Given the description of an element on the screen output the (x, y) to click on. 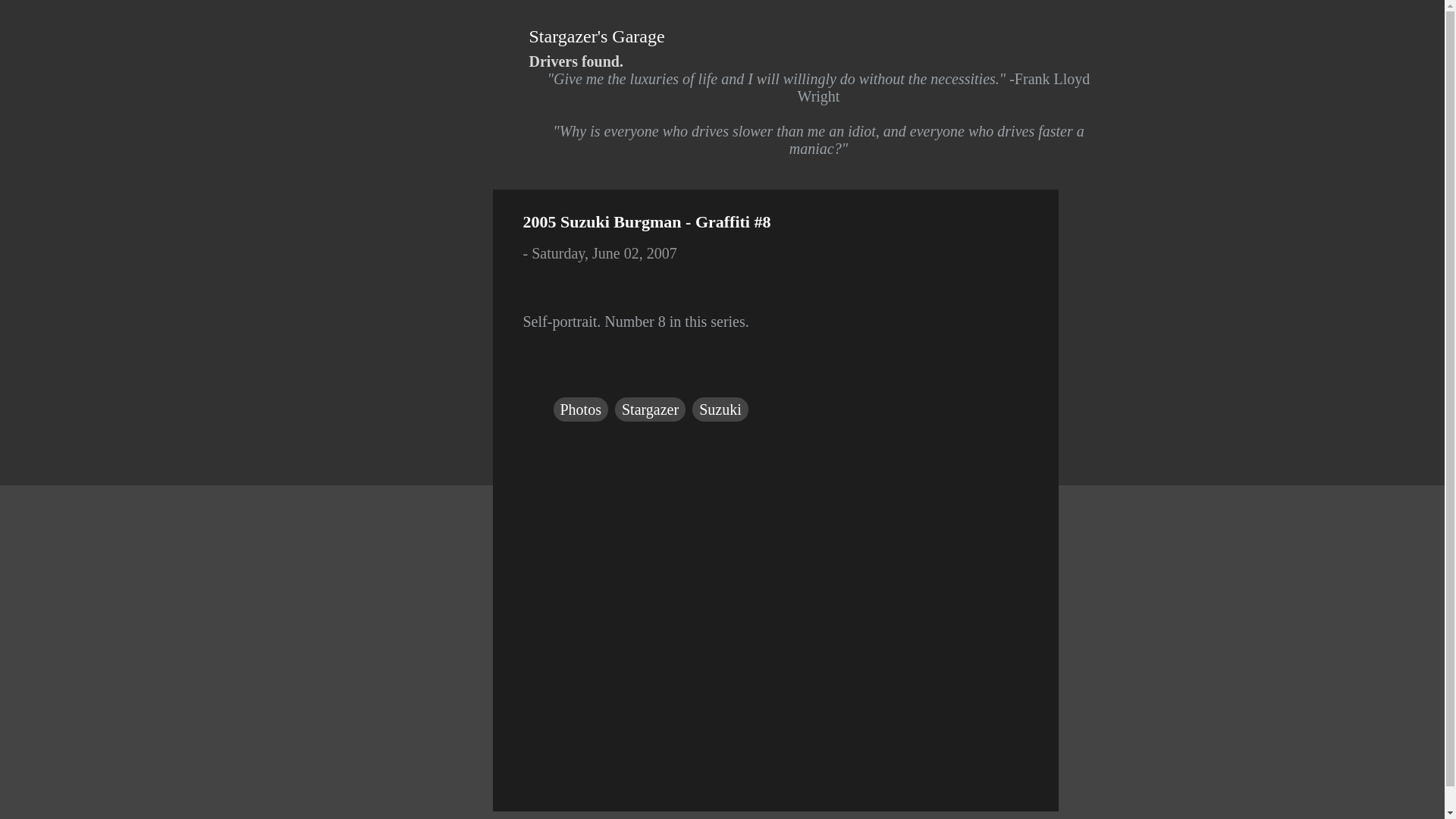
Stargazer's Garage (597, 35)
Search (37, 18)
Suzuki (720, 409)
Photos (580, 409)
Saturday, June 02, 2007 (604, 252)
Stargazer (649, 409)
permanent link (604, 252)
